Given the description of an element on the screen output the (x, y) to click on. 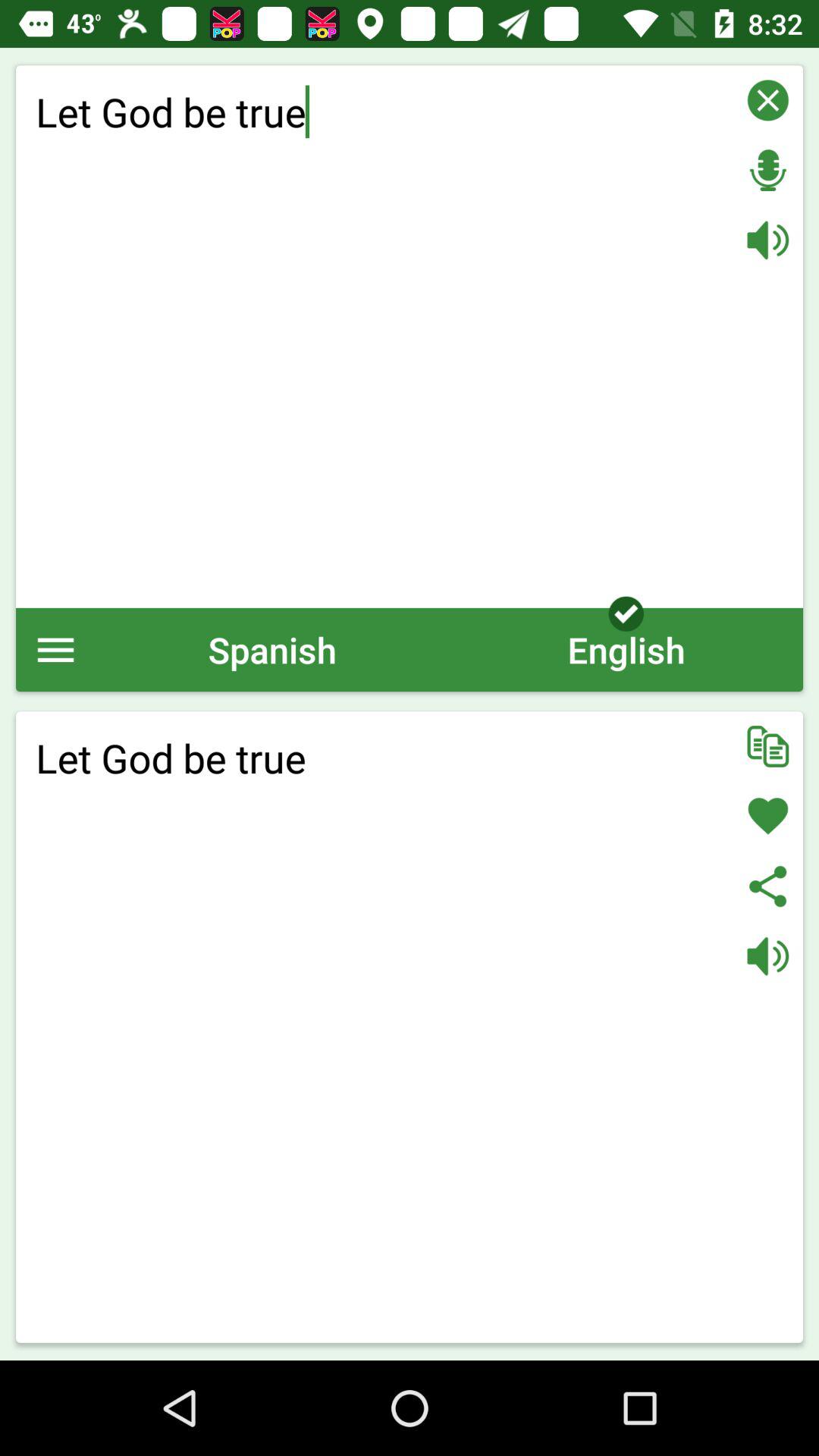
speak the text (768, 956)
